Given the description of an element on the screen output the (x, y) to click on. 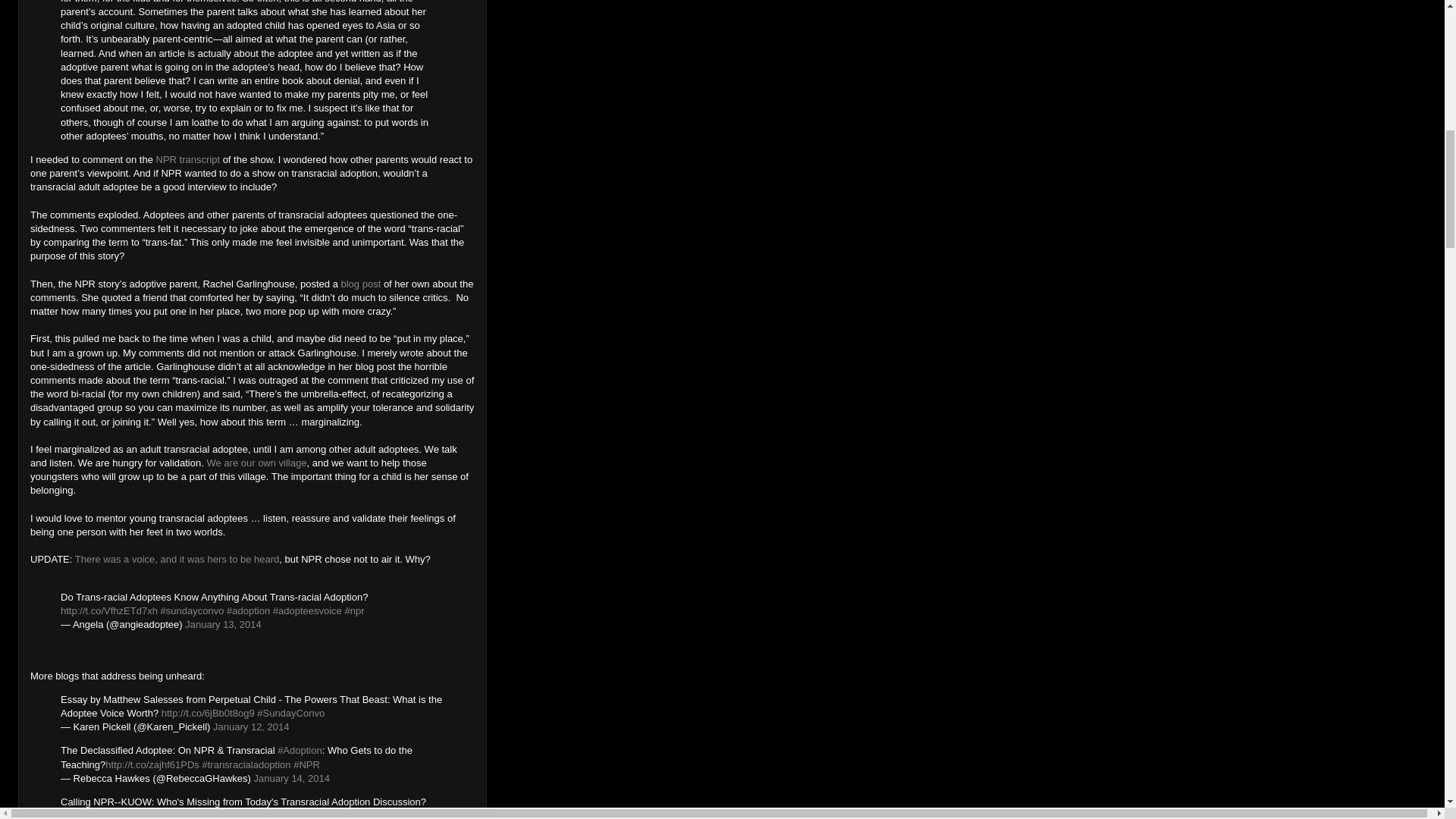
NPR transcript (188, 159)
blog post (360, 283)
January 14, 2014 (291, 778)
January 12, 2014 (250, 726)
January 13, 2014 (222, 624)
There was a voice, and it was hers to be heard (177, 559)
We are our own village (255, 462)
